Given the description of an element on the screen output the (x, y) to click on. 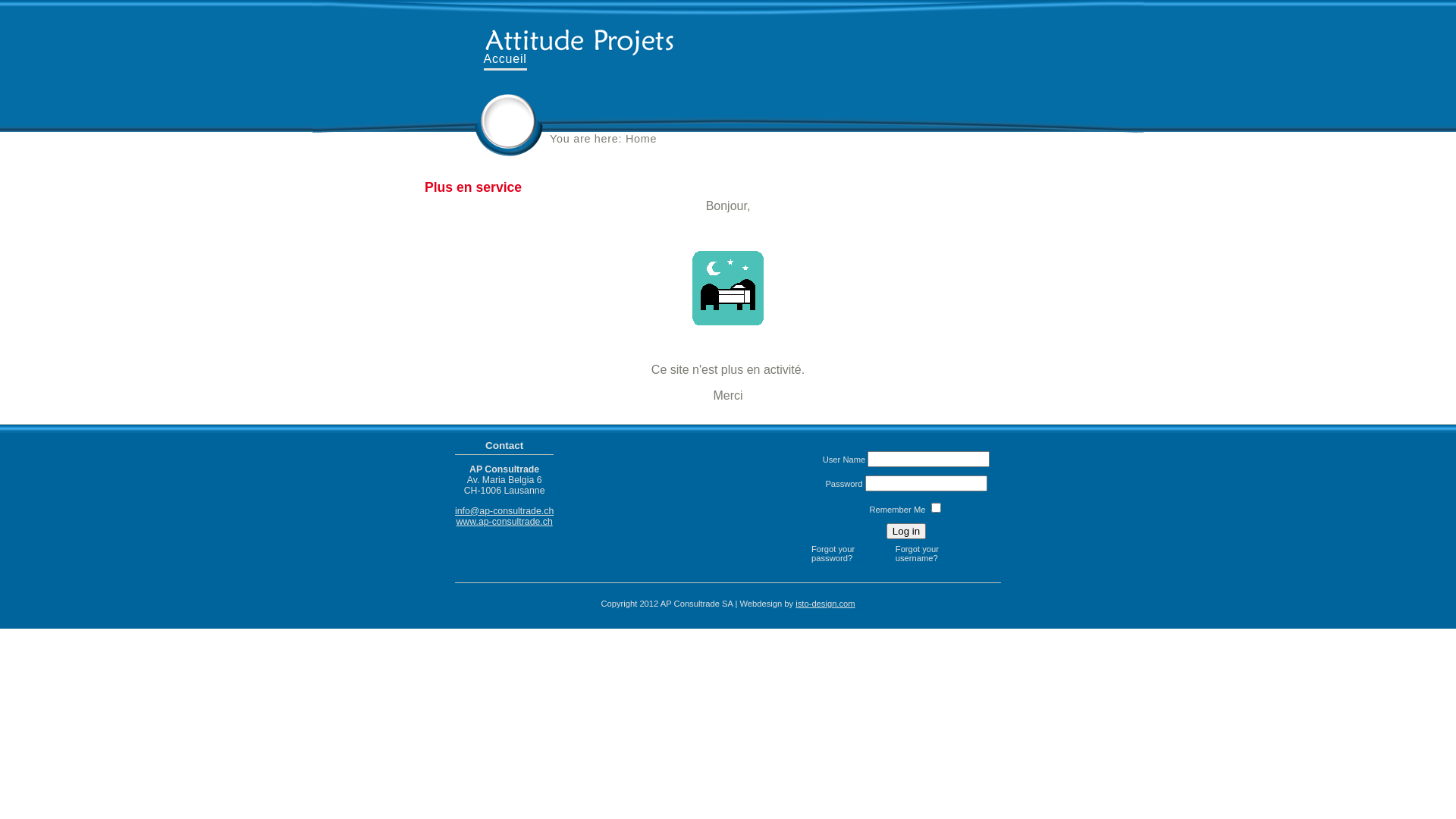
isto-design.com Element type: text (824, 603)
Forgot your password? Element type: text (849, 553)
Log in Element type: text (905, 531)
www.ap-consultrade.ch Element type: text (503, 521)
Forgot your username? Element type: text (933, 553)
info@ap-consultrade.ch Element type: text (504, 510)
Accueil Element type: text (498, 59)
